Given the description of an element on the screen output the (x, y) to click on. 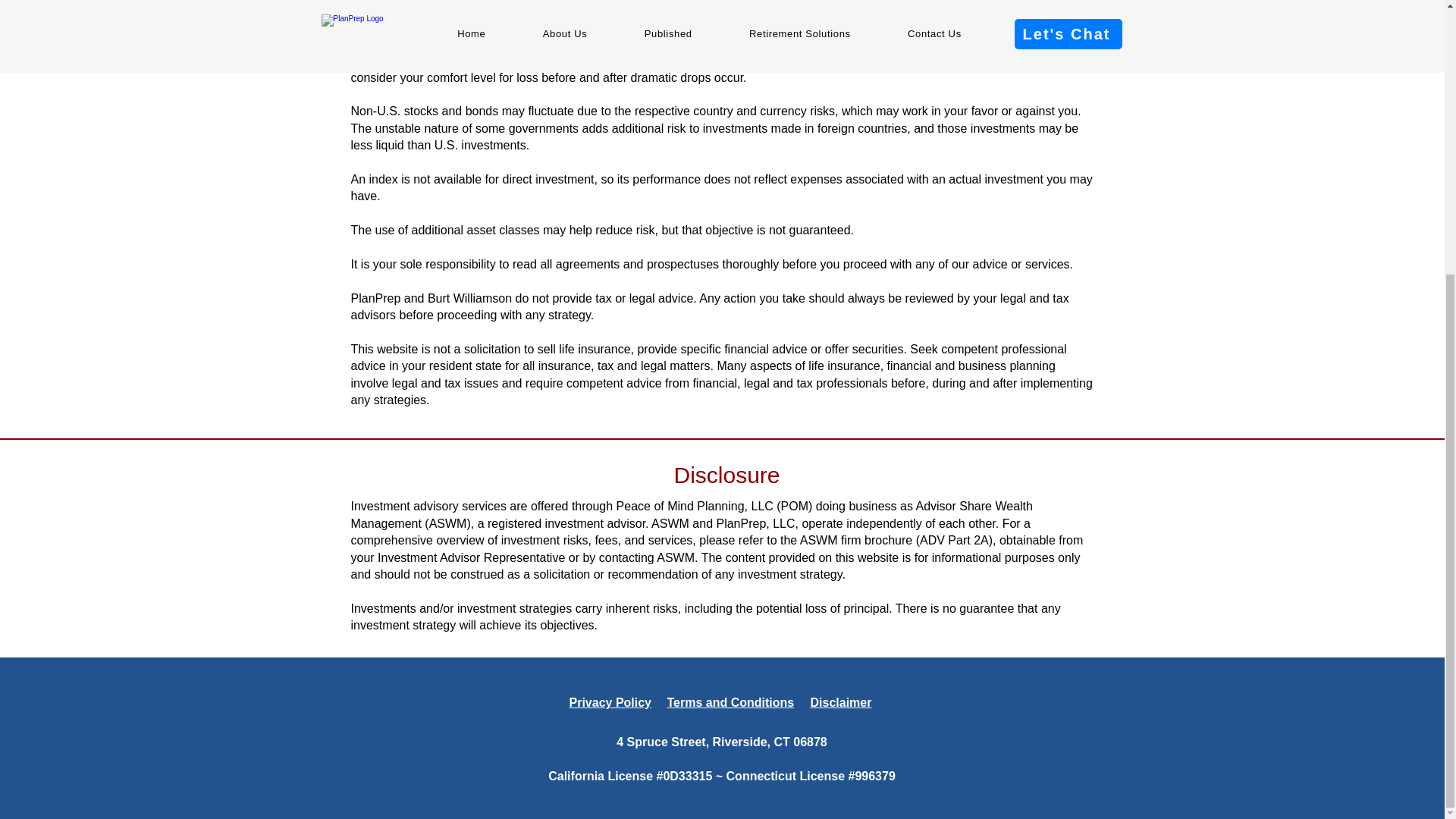
Privacy Policy (609, 702)
Terms and Conditions (730, 702)
Disclaimer (839, 702)
